Given the description of an element on the screen output the (x, y) to click on. 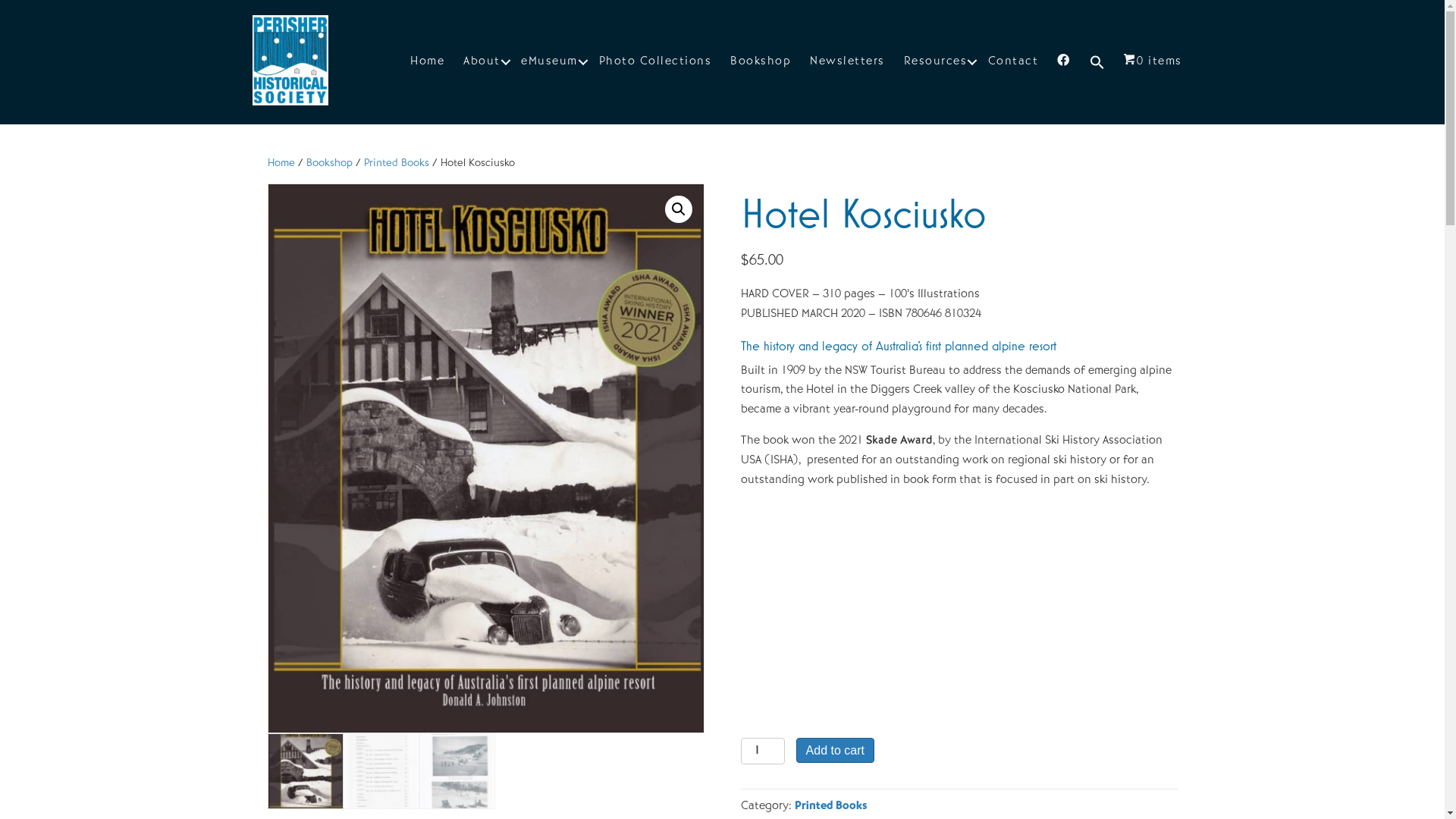
Printed Books Element type: text (396, 162)
Bookshop Element type: text (760, 62)
Photo Collections Element type: text (655, 62)
Add to cart Element type: text (835, 749)
Home Element type: text (280, 162)
0 items Element type: text (1152, 62)
Bookshop Element type: text (329, 162)
Resources Element type: text (936, 62)
eMuseum Element type: text (549, 62)
About Element type: text (482, 62)
HK-Front-Title-Award_750px Element type: hover (484, 458)
2021 Hotel Koscuisko Element type: hover (929, 608)
Home Element type: text (427, 62)
Newsletters Element type: text (847, 62)
Printed Books Element type: text (830, 805)
Contact Element type: text (1013, 62)
PHS-Logo-square-300 Element type: hover (289, 60)
